Given the description of an element on the screen output the (x, y) to click on. 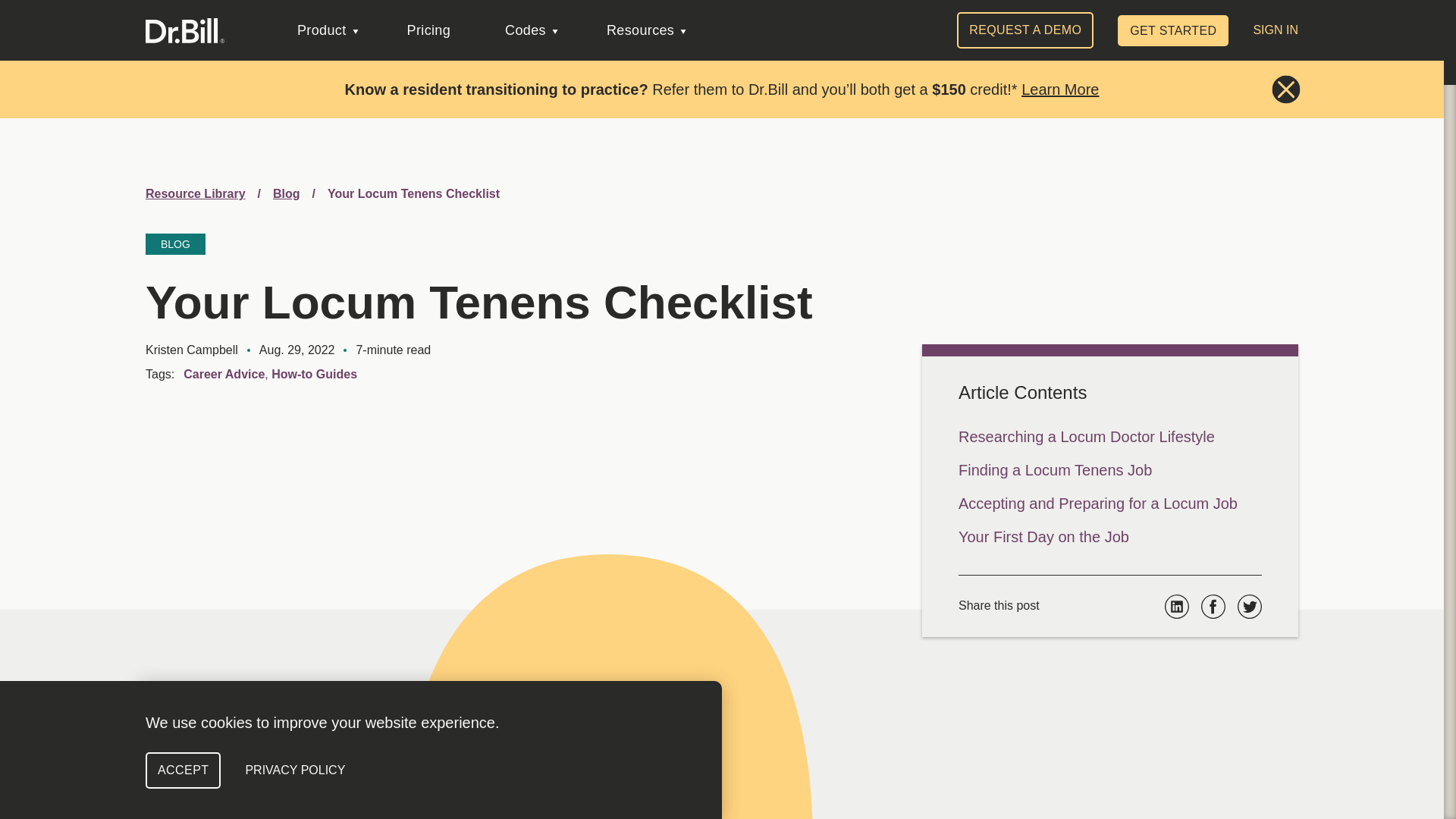
Dr.Bill (184, 30)
Product (327, 29)
Codes (531, 29)
Pricing (431, 29)
